Given the description of an element on the screen output the (x, y) to click on. 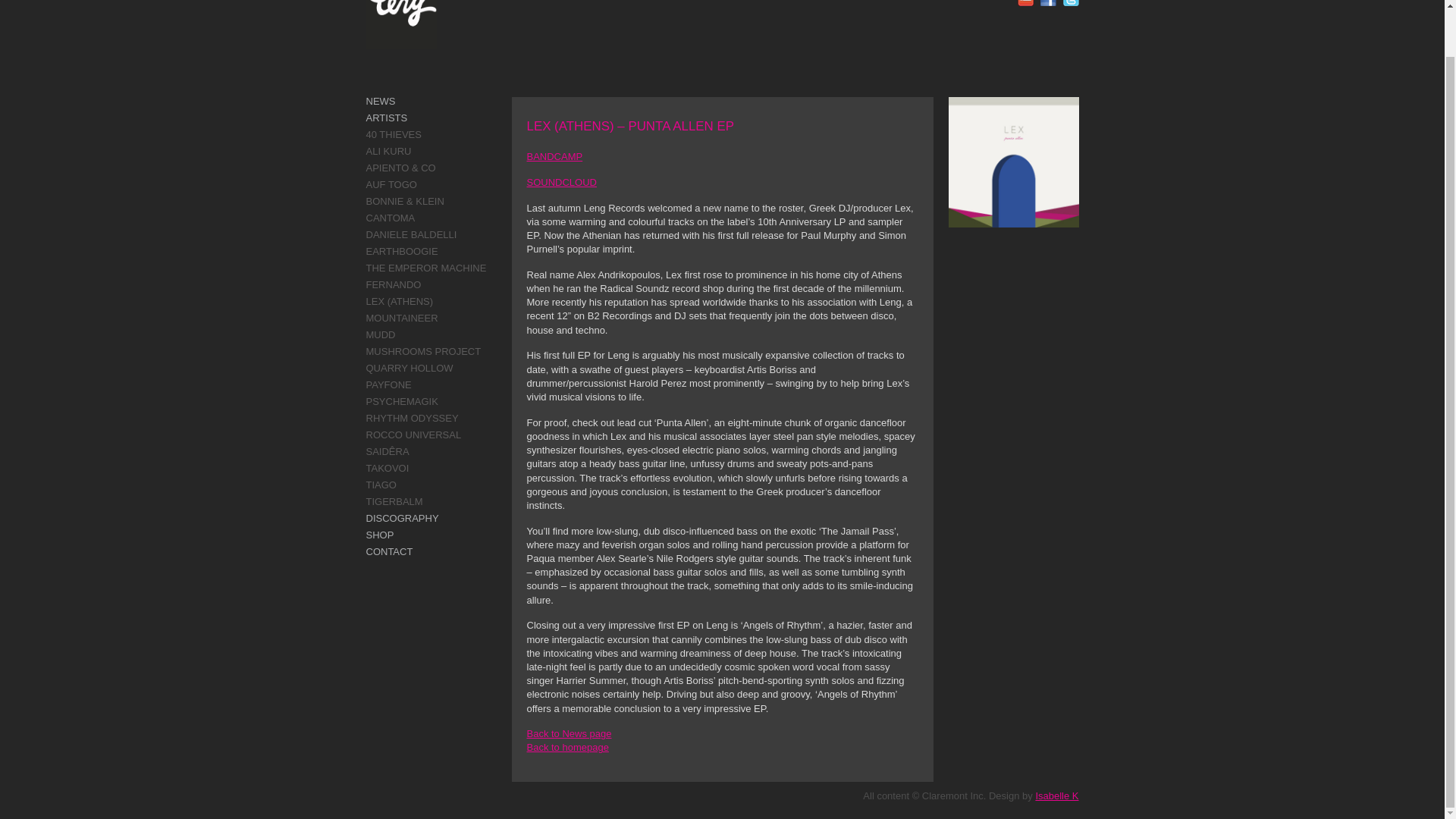
NEWS (379, 101)
ARTISTS (386, 117)
Isabelle K Design (1056, 795)
40 THIEVES (392, 134)
Leng Records (400, 24)
Follow us on Twitter (1070, 2)
SOUNDCLOUD (560, 182)
Back to homepage (566, 747)
BANDCAMP (553, 156)
News (568, 733)
Back to News page (568, 733)
Leng on Soundcloud (1025, 2)
Follow us on Facebook (1049, 2)
Home (566, 747)
